Given the description of an element on the screen output the (x, y) to click on. 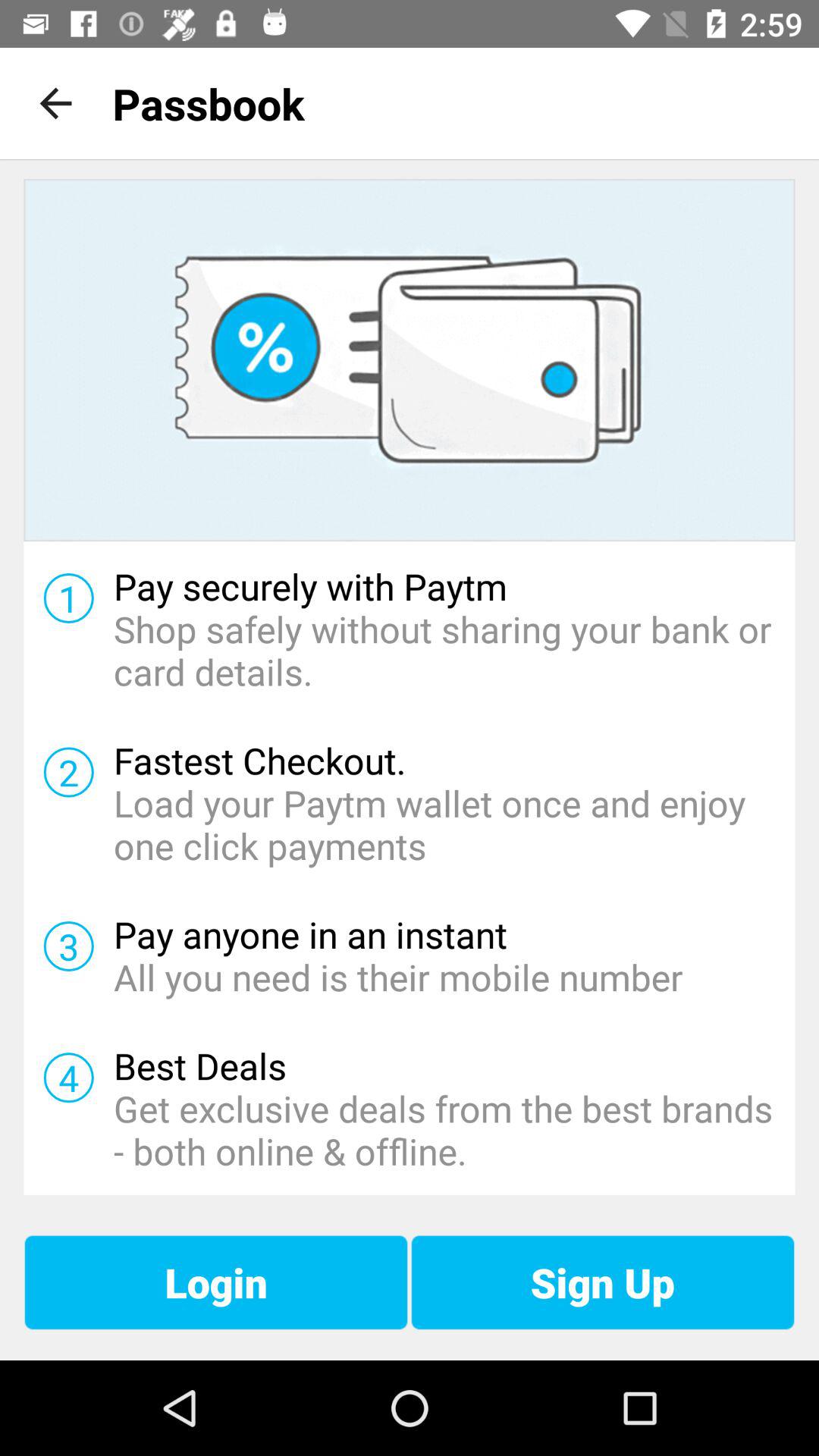
launch the passbook (208, 103)
